Given the description of an element on the screen output the (x, y) to click on. 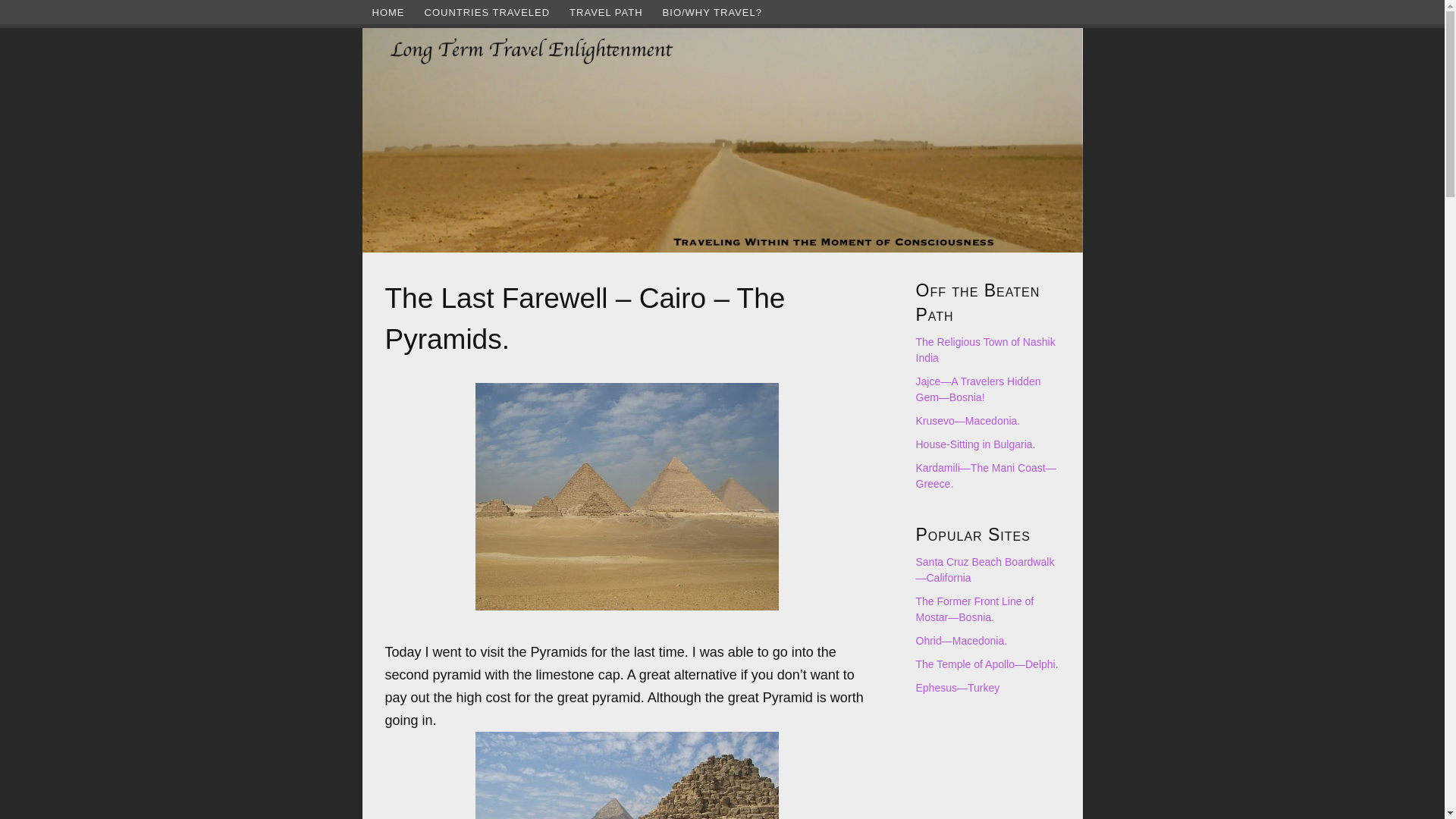
Read The Religious Town of Nashik India (985, 349)
COUNTRIES TRAVELED (486, 12)
TRAVEL PATH (605, 12)
Read House-Sitting in Bulgaria. (975, 444)
HOME (388, 12)
The Religious Town of Nashik India (985, 349)
House-Sitting in Bulgaria. (975, 444)
